Given the description of an element on the screen output the (x, y) to click on. 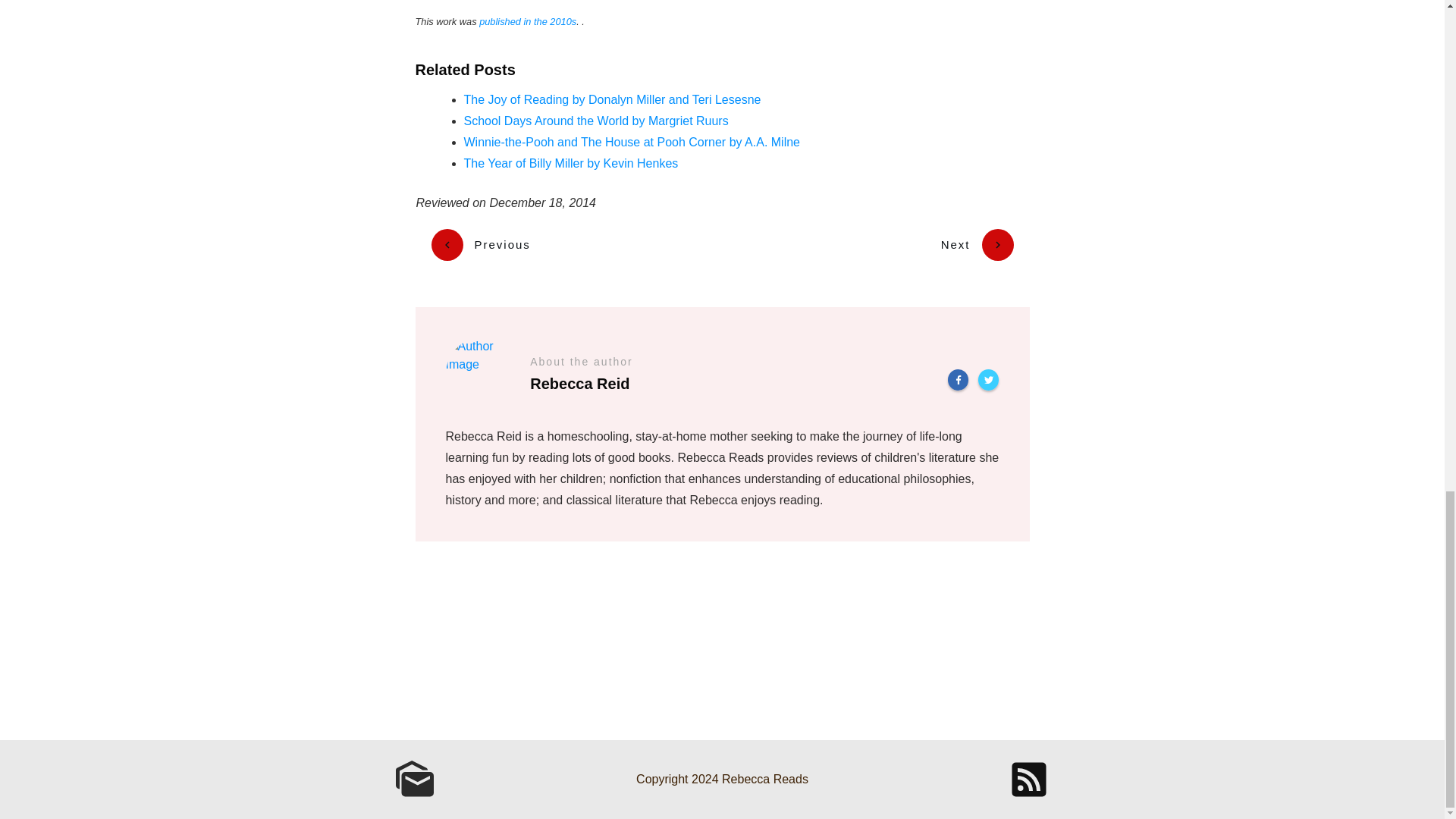
published in the 2010s (527, 21)
